Given the description of an element on the screen output the (x, y) to click on. 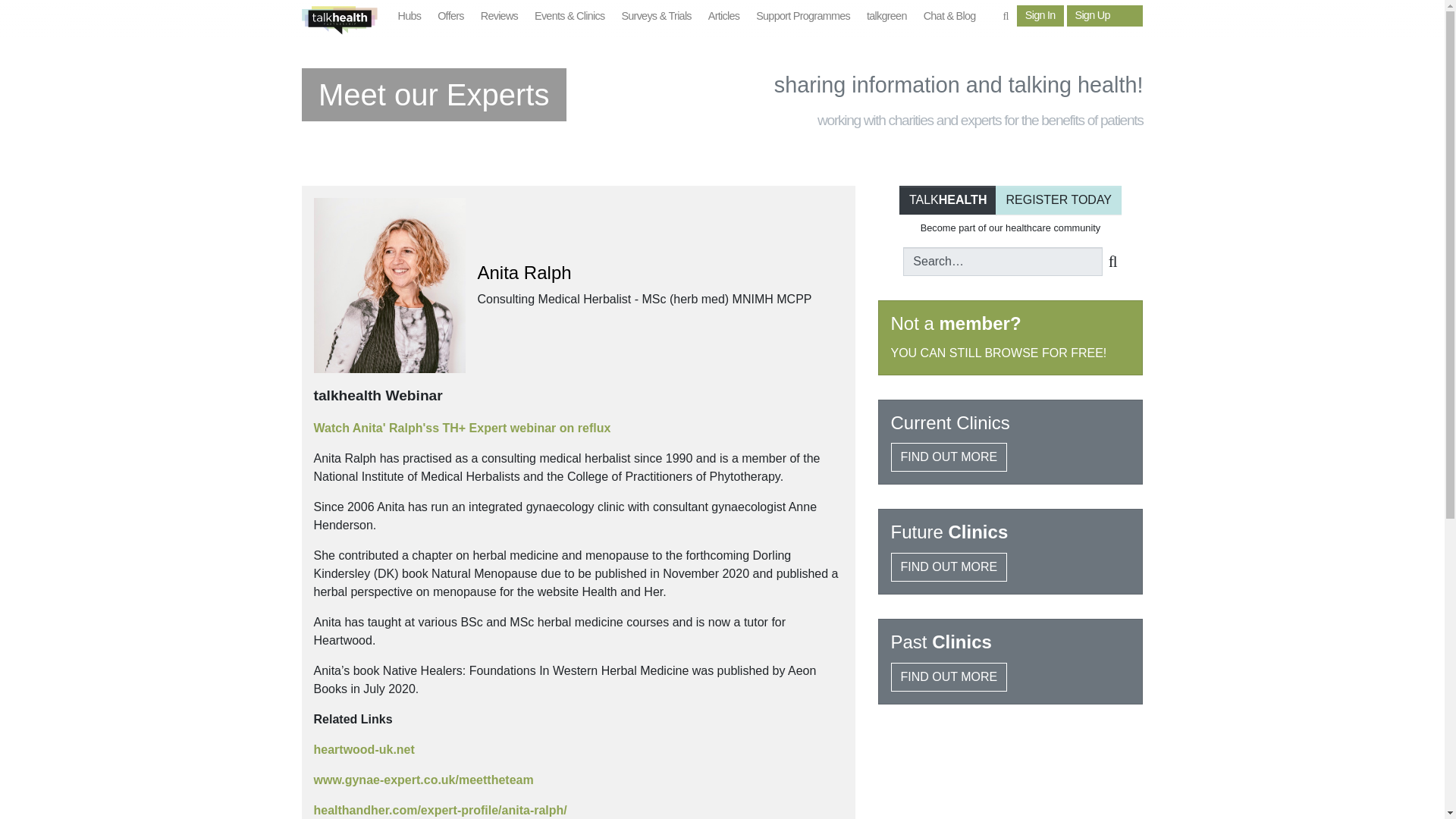
talkgreen (1010, 201)
FIND OUT MORE (887, 16)
Support Programmes (948, 566)
YOU CAN STILL BROWSE FOR FREE! (803, 16)
Sign In (997, 352)
Offers (1040, 15)
Meet our Experts (450, 16)
Hubs (433, 99)
heartwood-uk.net (409, 16)
